Given the description of an element on the screen output the (x, y) to click on. 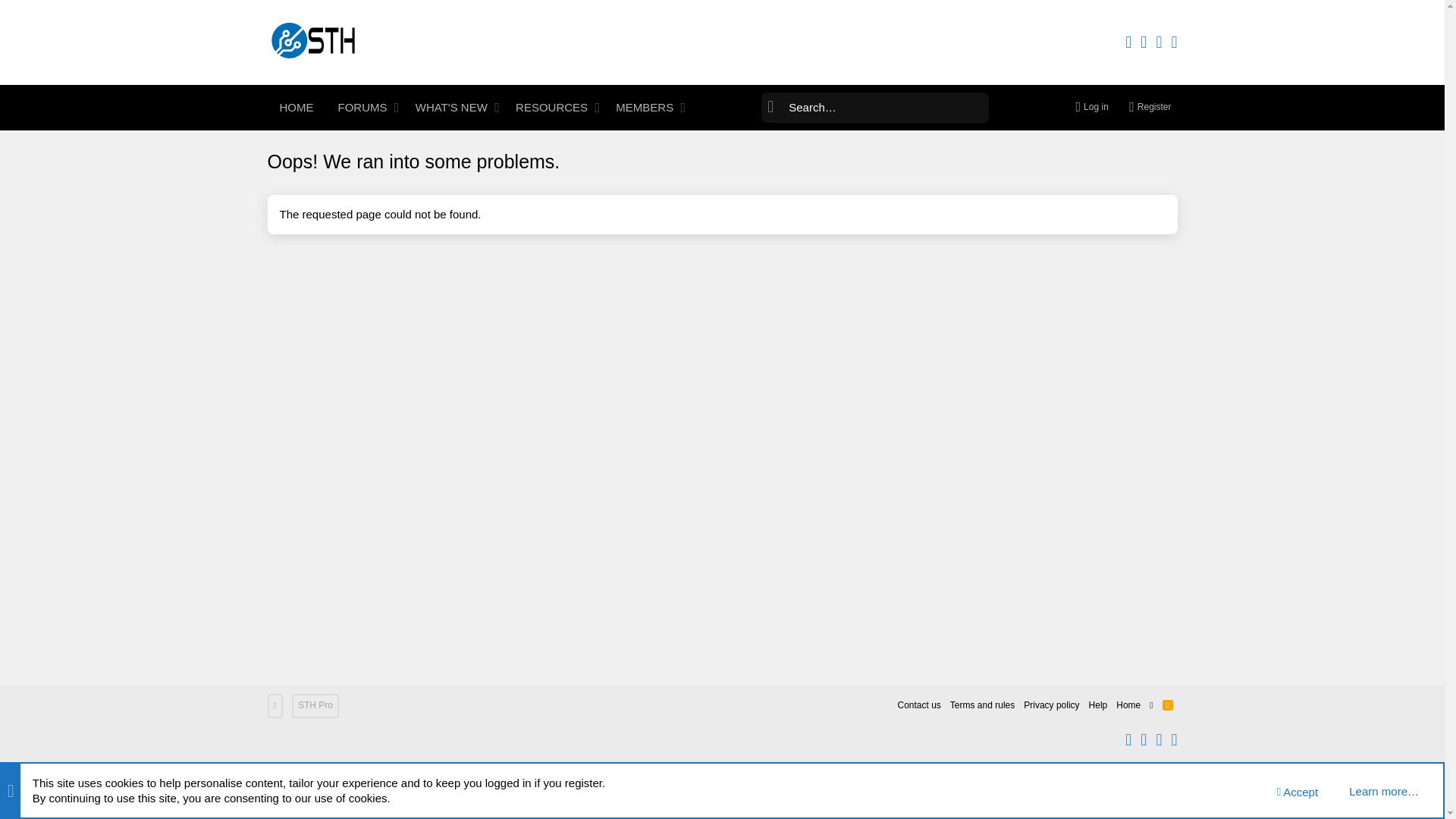
FORUMS (477, 107)
HOME (358, 107)
RESOURCES (295, 107)
RSS (547, 107)
WHAT'S NEW (477, 124)
MEMBERS (1167, 705)
